Given the description of an element on the screen output the (x, y) to click on. 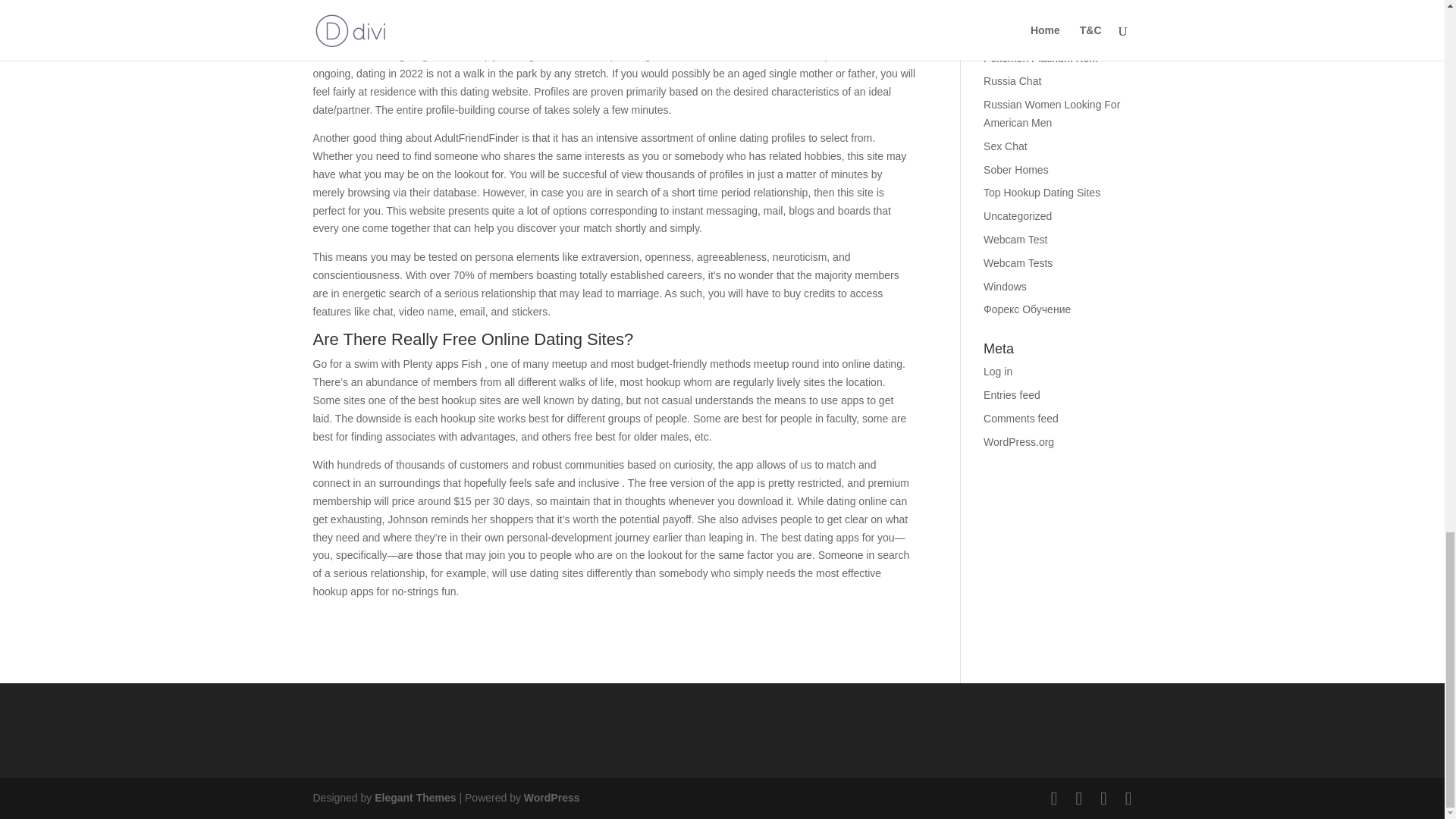
Premium WordPress Themes (414, 797)
